Given the description of an element on the screen output the (x, y) to click on. 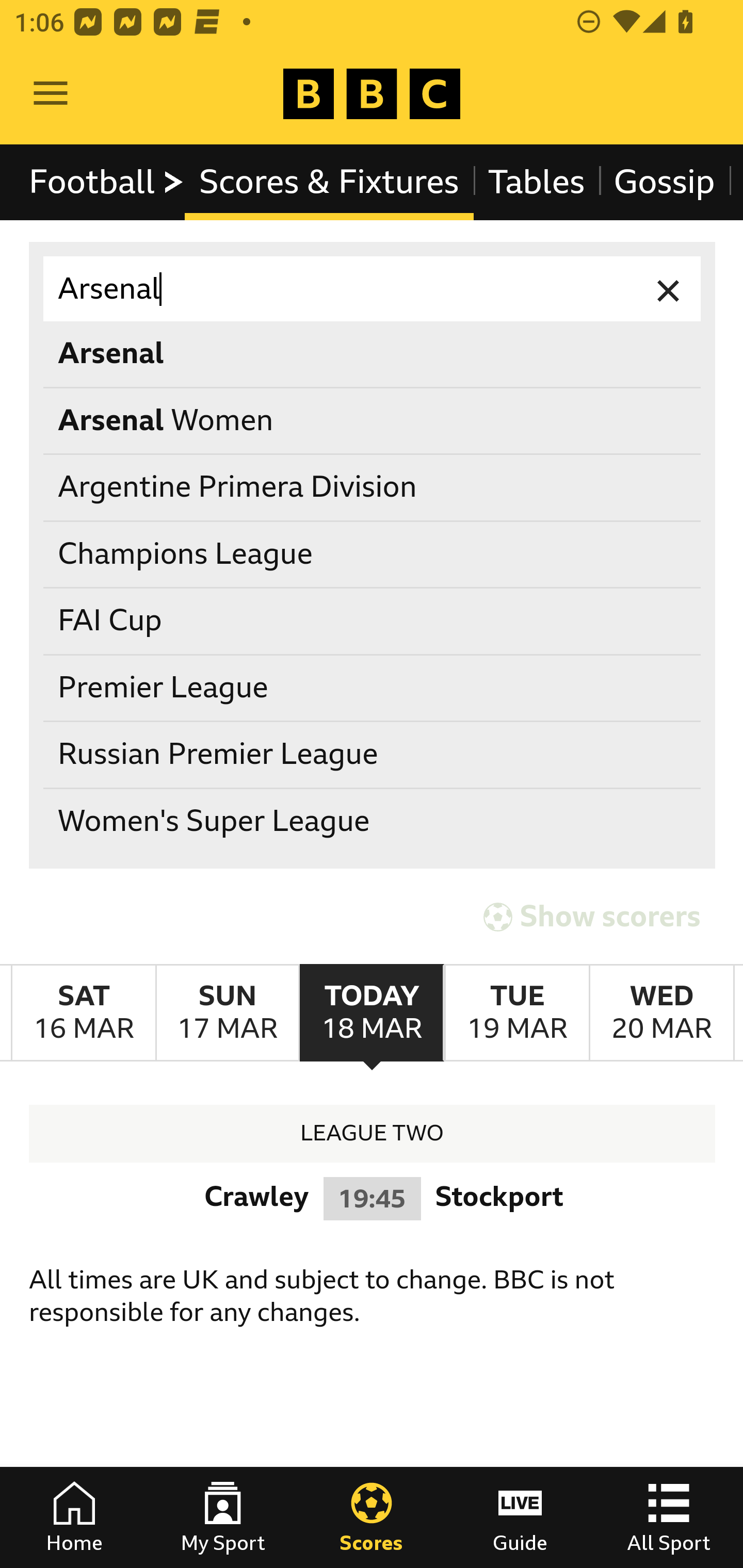
Open Menu (50, 93)
Football  (106, 181)
Scores & Fixtures (329, 181)
Tables (536, 181)
Gossip (664, 181)
Arsenal (372, 289)
Clear input (669, 289)
Arsenal (372, 353)
Arsenal Women Arsenal  Women (372, 419)
Argentine Primera Division (372, 488)
Champions League (372, 554)
FAI Cup (372, 620)
Premier League (372, 687)
Russian Premier League (372, 755)
Women's Super League (372, 821)
Show scorers (591, 916)
SaturdayMarch 16th Saturday March 16th (83, 1012)
SundayMarch 17th Sunday March 17th (227, 1012)
TuesdayMarch 19th Tuesday March 19th (516, 1012)
WednesdayMarch 20th Wednesday March 20th (661, 1012)
Home (74, 1517)
My Sport (222, 1517)
Guide (519, 1517)
All Sport (668, 1517)
